Given the description of an element on the screen output the (x, y) to click on. 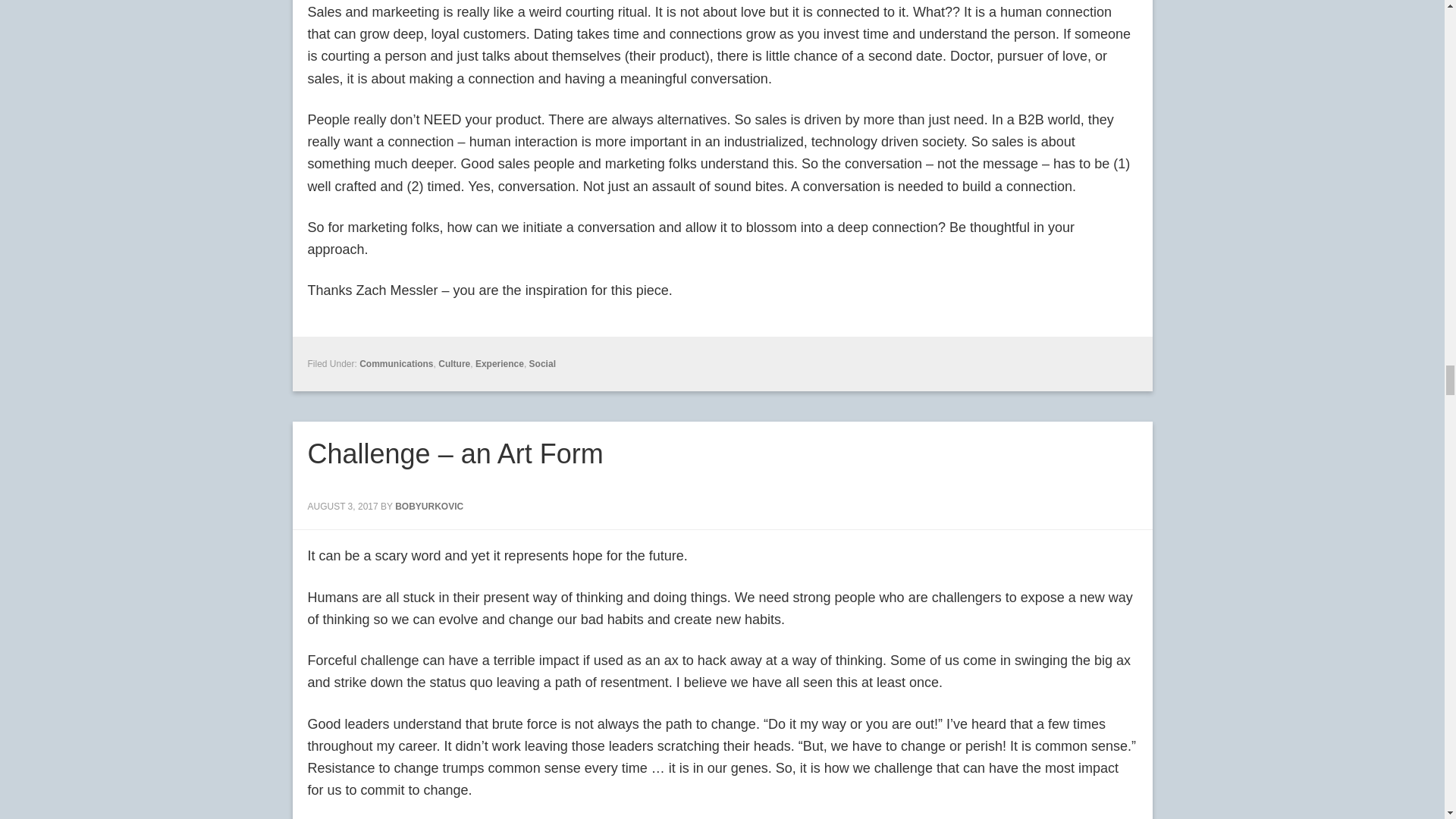
Communications (395, 363)
Experience (500, 363)
Culture (454, 363)
